Given the description of an element on the screen output the (x, y) to click on. 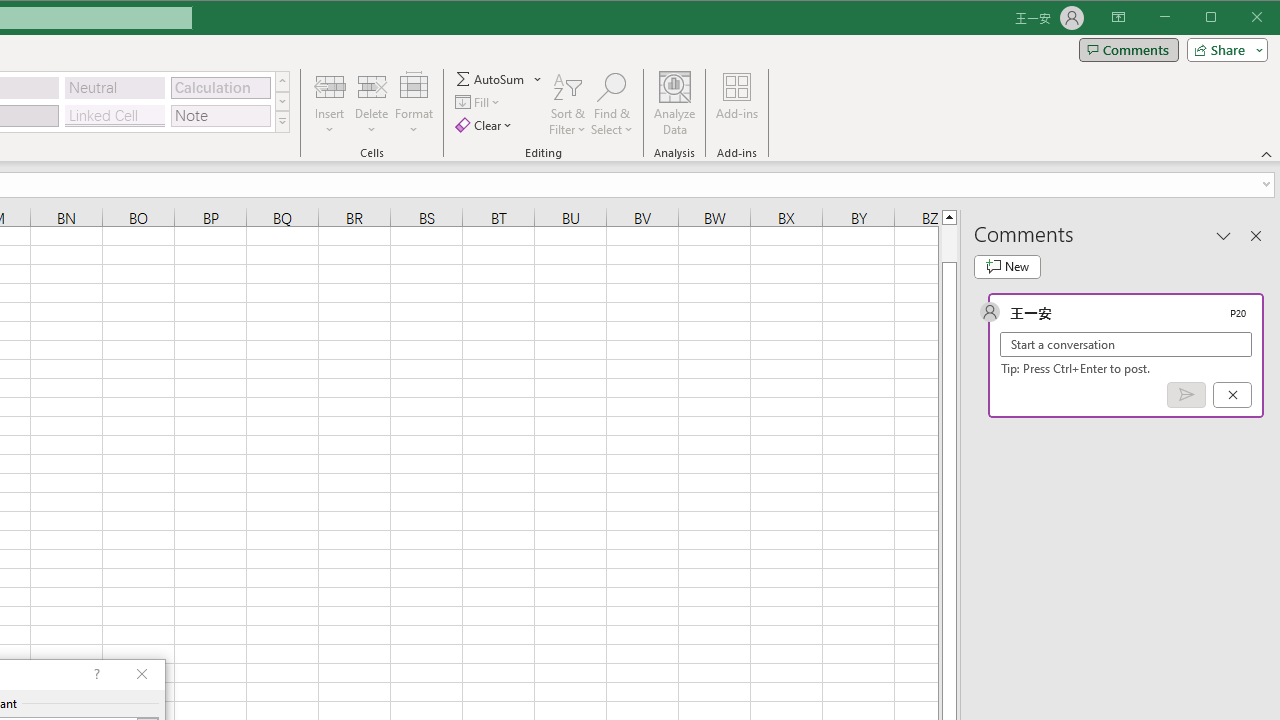
Sort & Filter (567, 104)
Note (220, 116)
Neutral (114, 88)
Format (414, 104)
Linked Cell (114, 116)
